Given the description of an element on the screen output the (x, y) to click on. 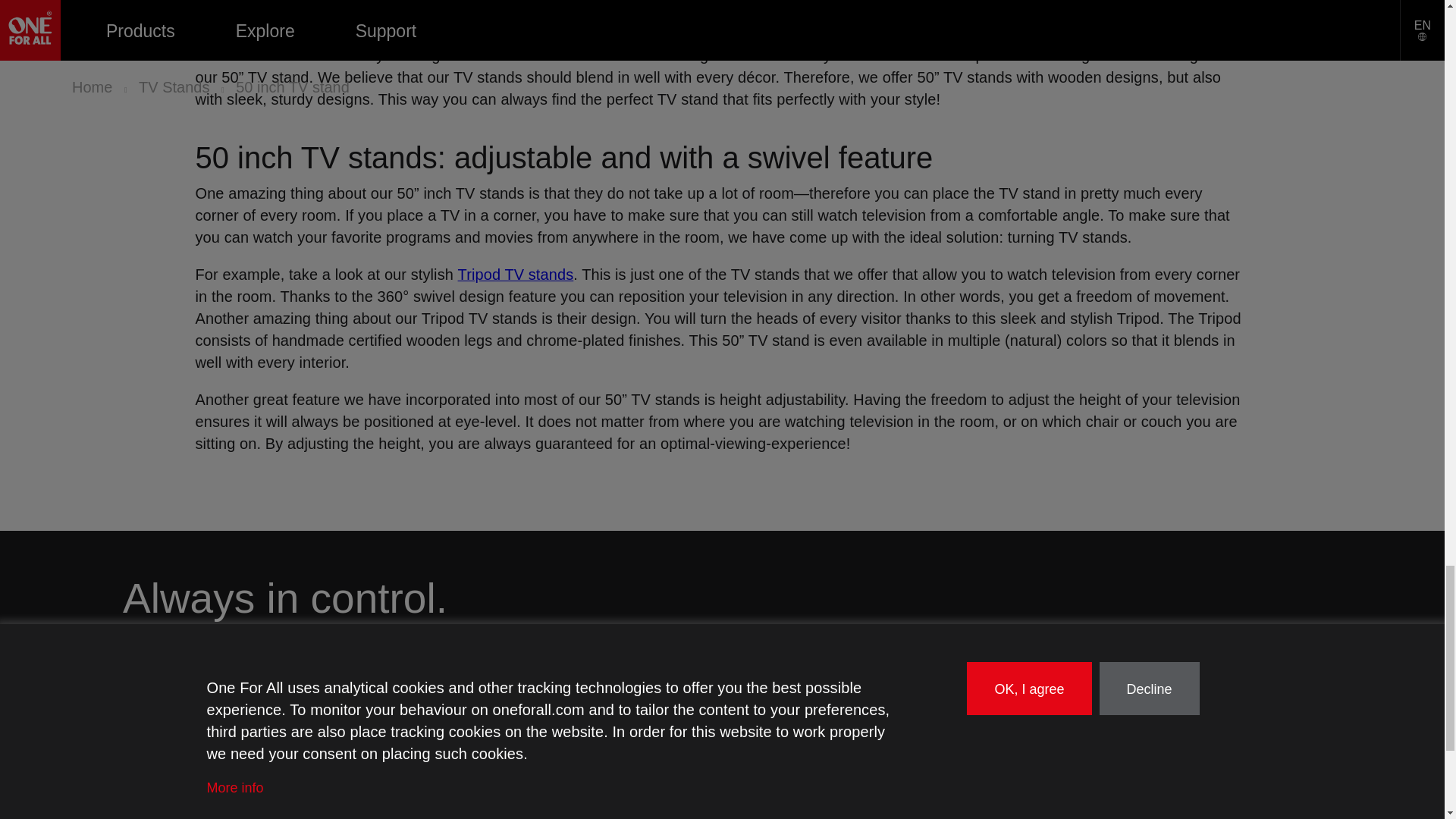
Find the right product (378, 725)
Find the right antenna (433, 790)
Browse all One For All products. (164, 725)
Wall mounts (174, 809)
See our antennas (165, 790)
Find the right remote (429, 767)
Universal Remotes (184, 767)
